Given the description of an element on the screen output the (x, y) to click on. 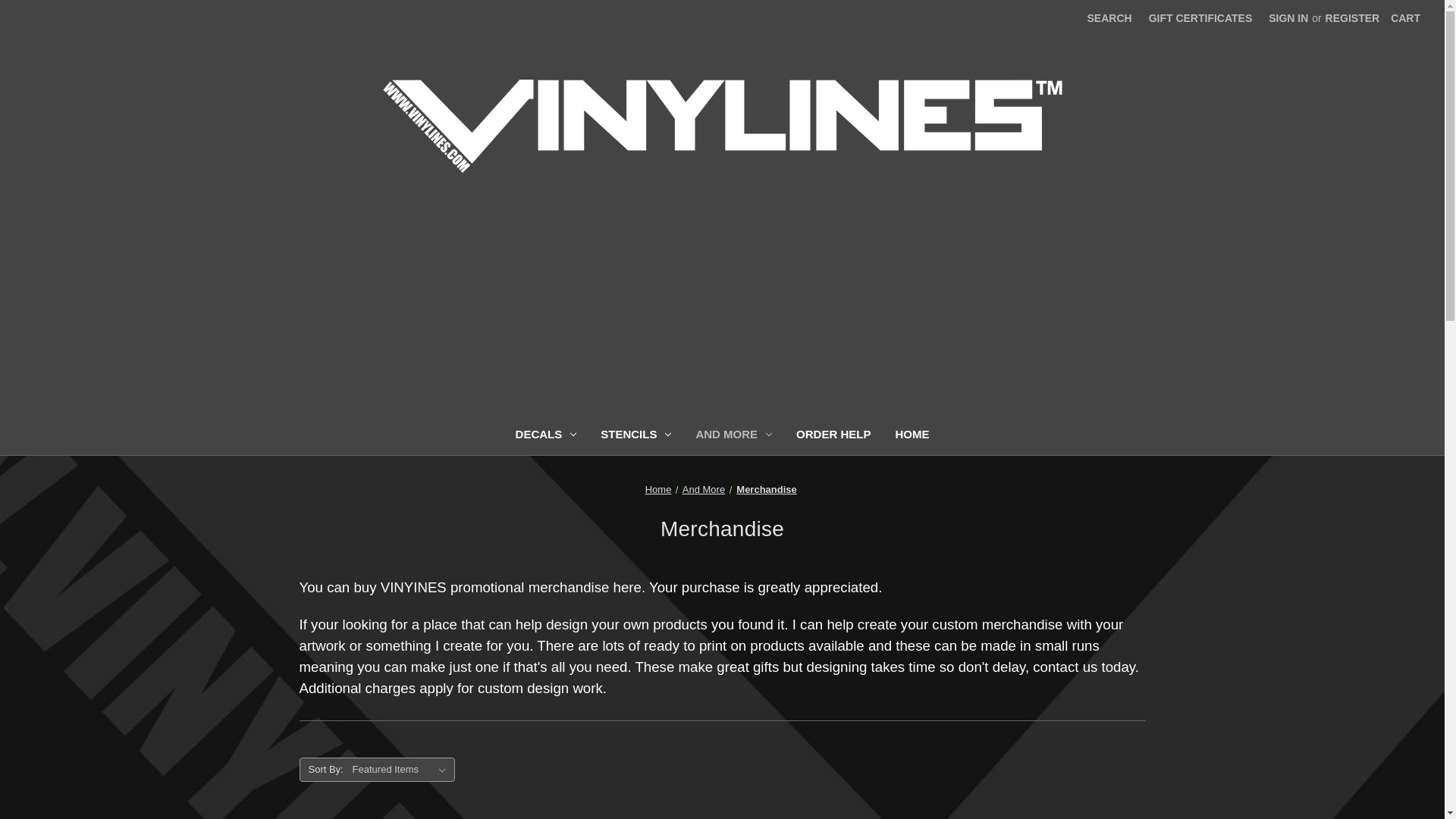
GIFT CERTIFICATES (1200, 18)
SIGN IN (1288, 18)
CART (1404, 18)
VINYLINES (722, 125)
REGISTER (1353, 18)
SEARCH (1109, 18)
DECALS (546, 436)
